Given the description of an element on the screen output the (x, y) to click on. 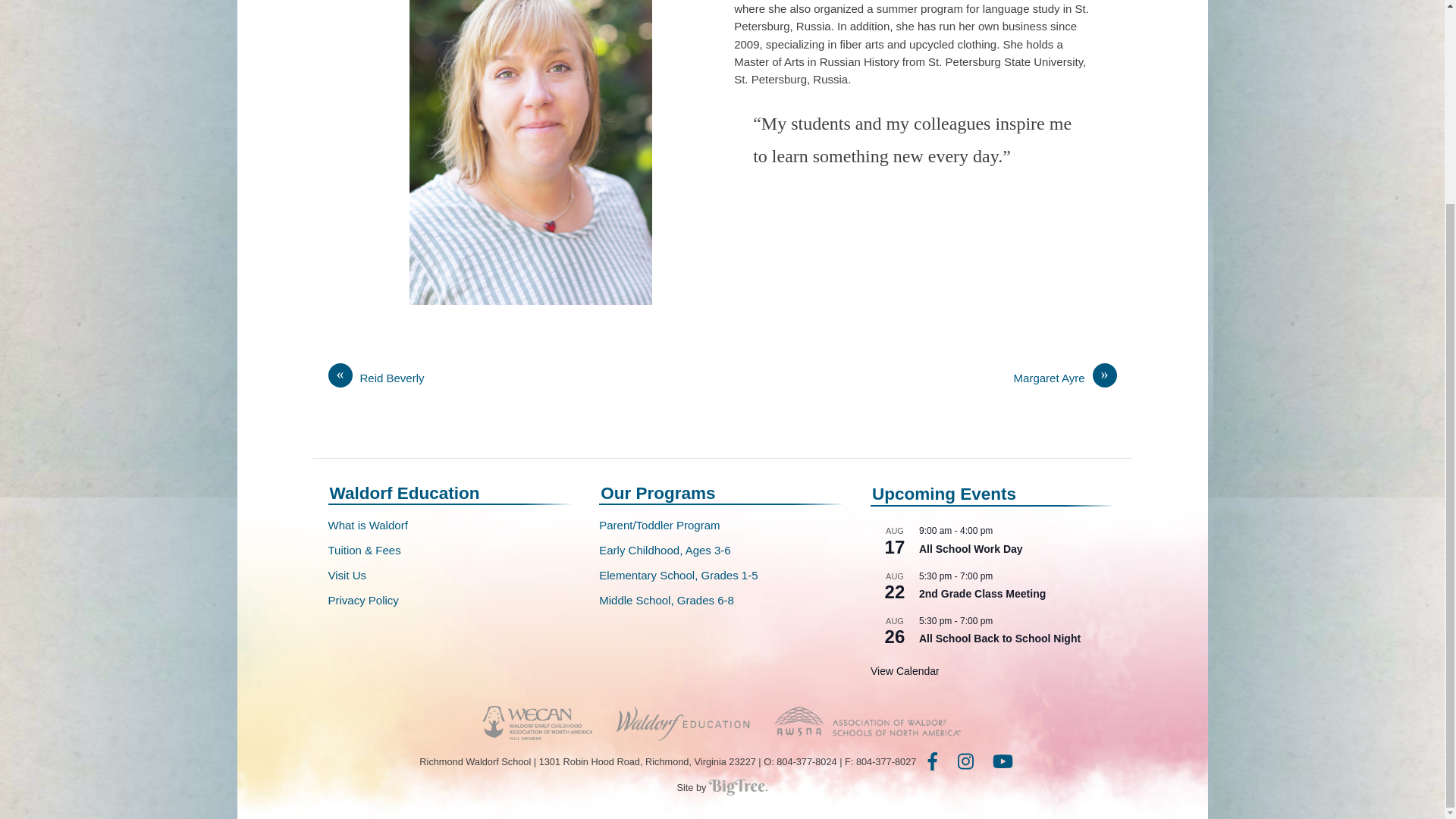
All School Back to School Night (999, 638)
View more events. (904, 671)
All School Work Day (970, 549)
2nd Grade Class Meeting (981, 594)
